Given the description of an element on the screen output the (x, y) to click on. 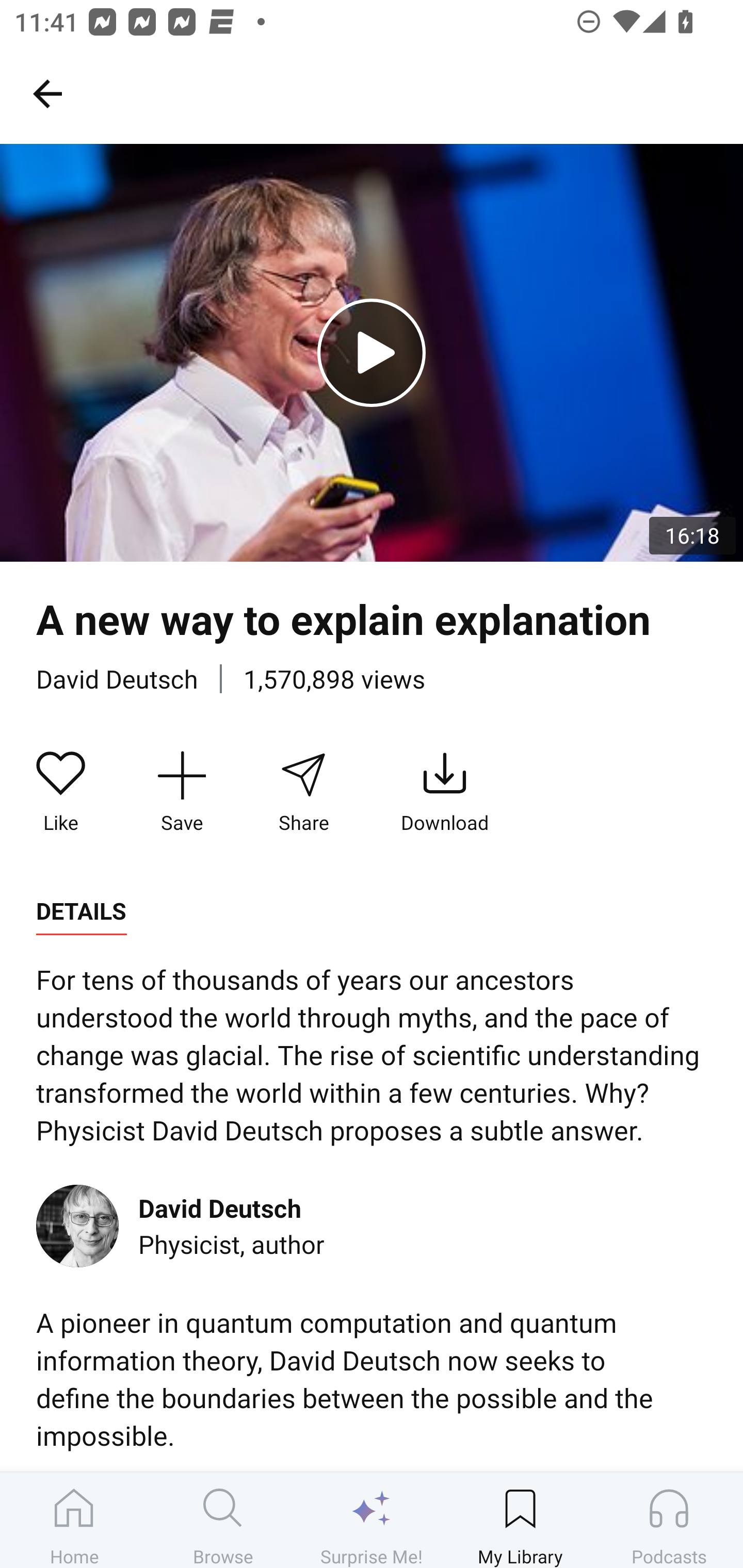
Go back (47, 92)
Like (60, 793)
Save (181, 793)
Share (302, 793)
Download (444, 793)
DETAILS (80, 911)
Home (74, 1520)
Browse (222, 1520)
Surprise Me! (371, 1520)
My Library (519, 1520)
Podcasts (668, 1520)
